Given the description of an element on the screen output the (x, y) to click on. 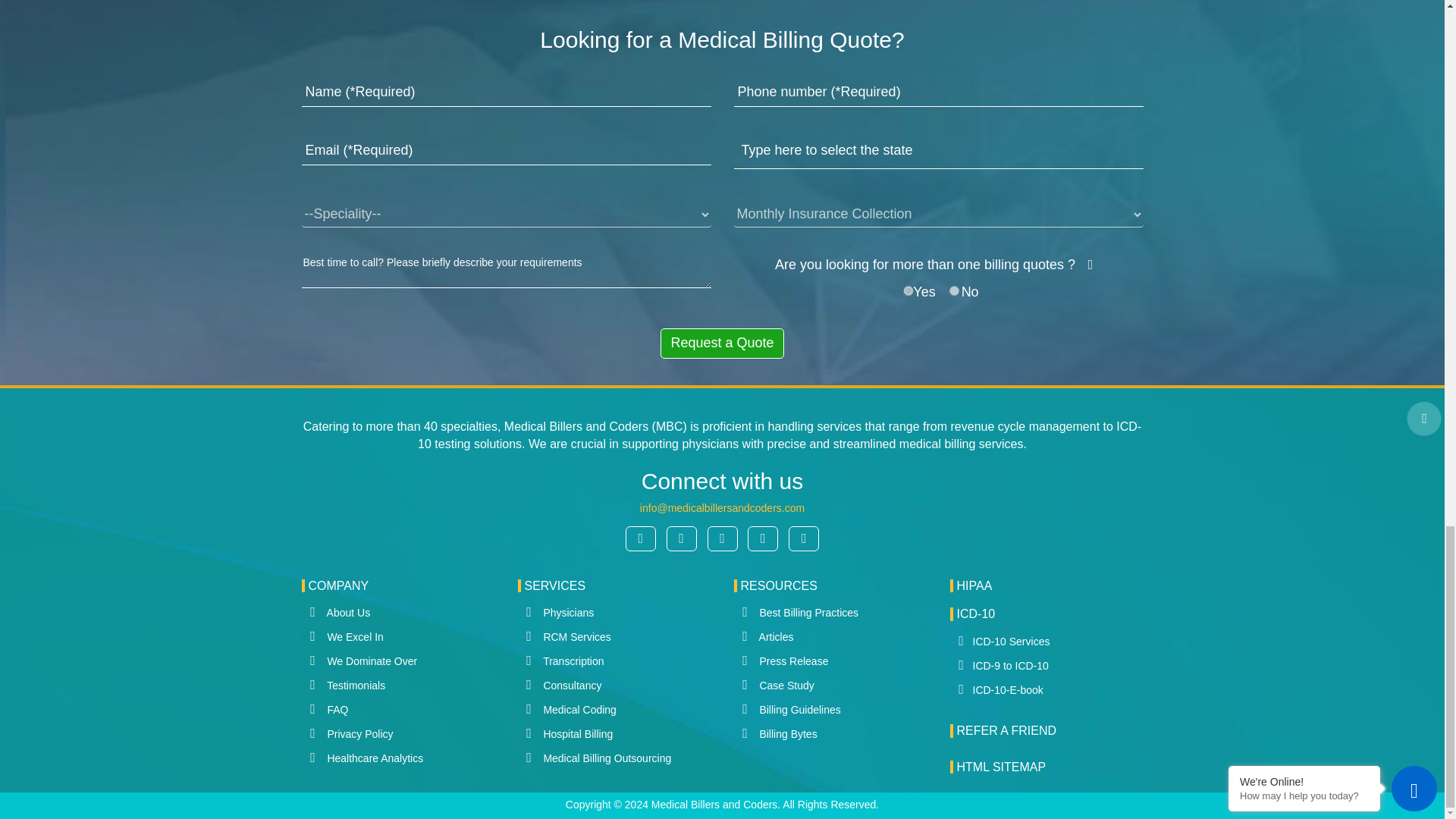
No (954, 290)
Yes (907, 290)
